Given the description of an element on the screen output the (x, y) to click on. 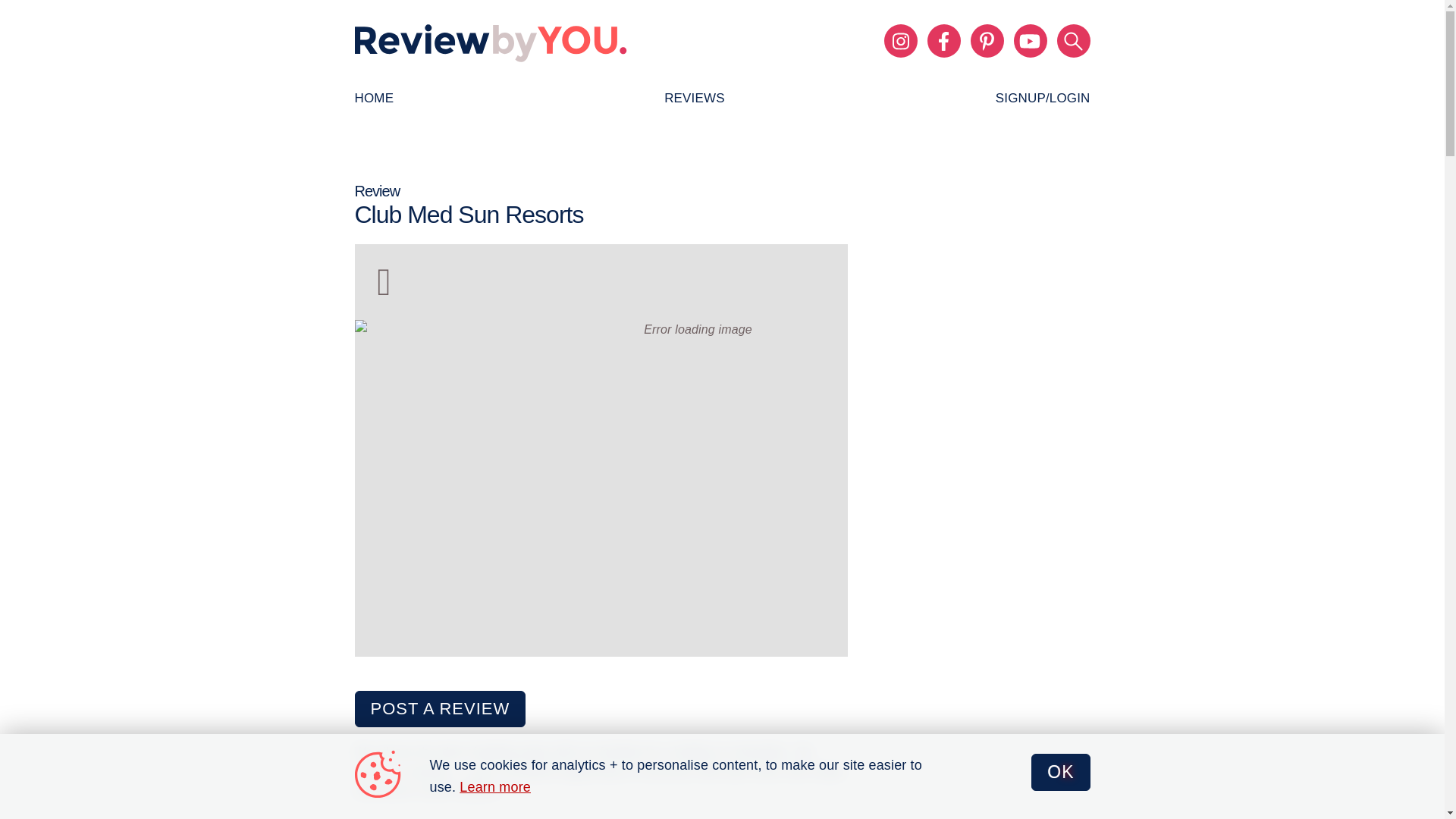
Like ReviewbyYOU on Facebook (942, 40)
Search ReviewbyYOU (1073, 40)
HOME (374, 98)
REVIEWS (694, 98)
POST A REVIEW (440, 708)
ReviewbyYOU on Pinterest (987, 40)
Follow ReviewbyYOU on Instagram (900, 40)
ReviewbyYOU YouTube Channel (1029, 40)
